Given the description of an element on the screen output the (x, y) to click on. 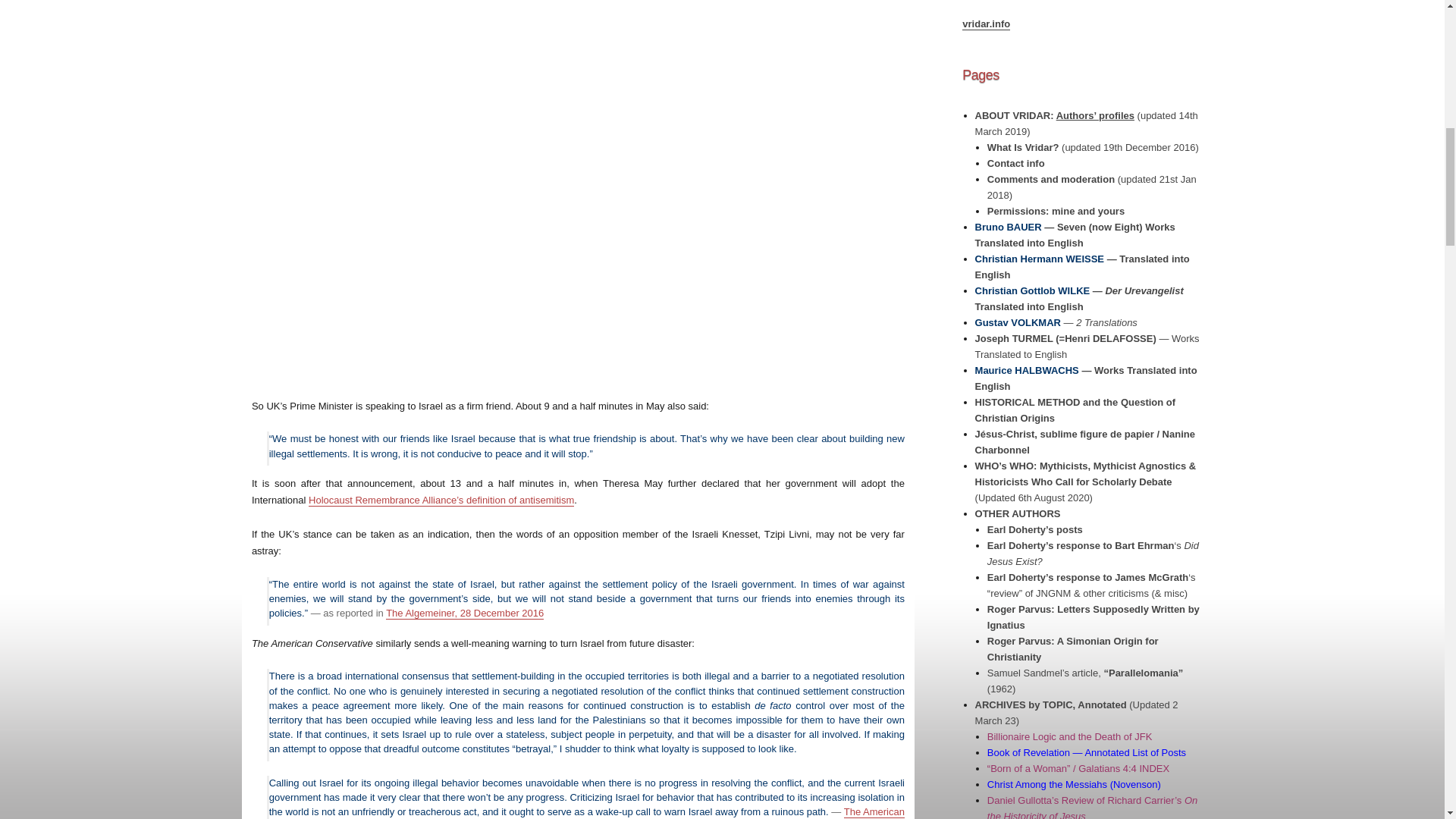
The Algemeiner, 28 December 2016 (464, 613)
The American Conservative, 28 December 2016 (586, 812)
